Given the description of an element on the screen output the (x, y) to click on. 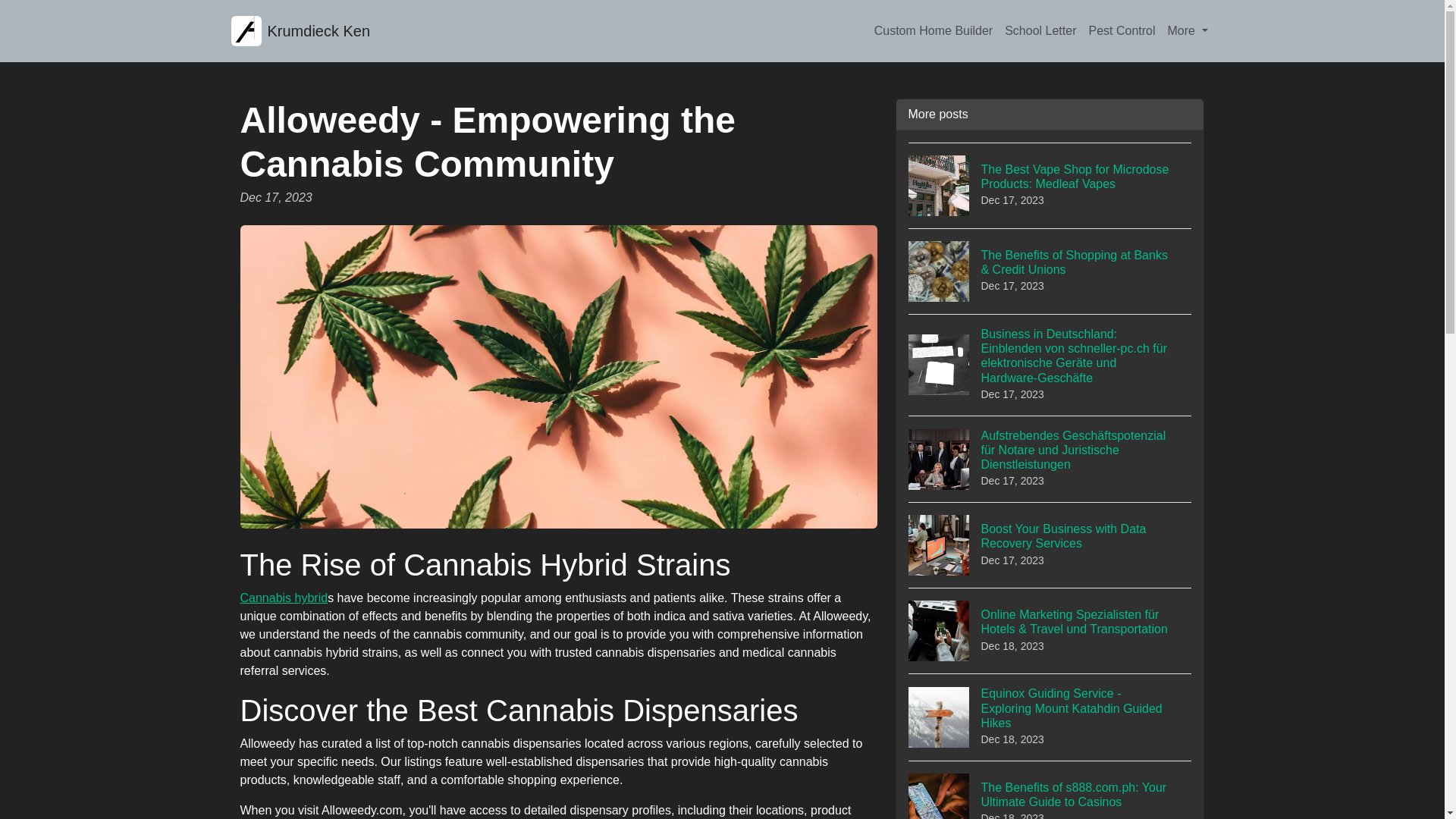
Pest Control (1120, 30)
More (1187, 30)
Cannabis hybrid (283, 597)
Krumdieck Ken (299, 30)
School Letter (1039, 30)
Custom Home Builder (1050, 545)
